Given the description of an element on the screen output the (x, y) to click on. 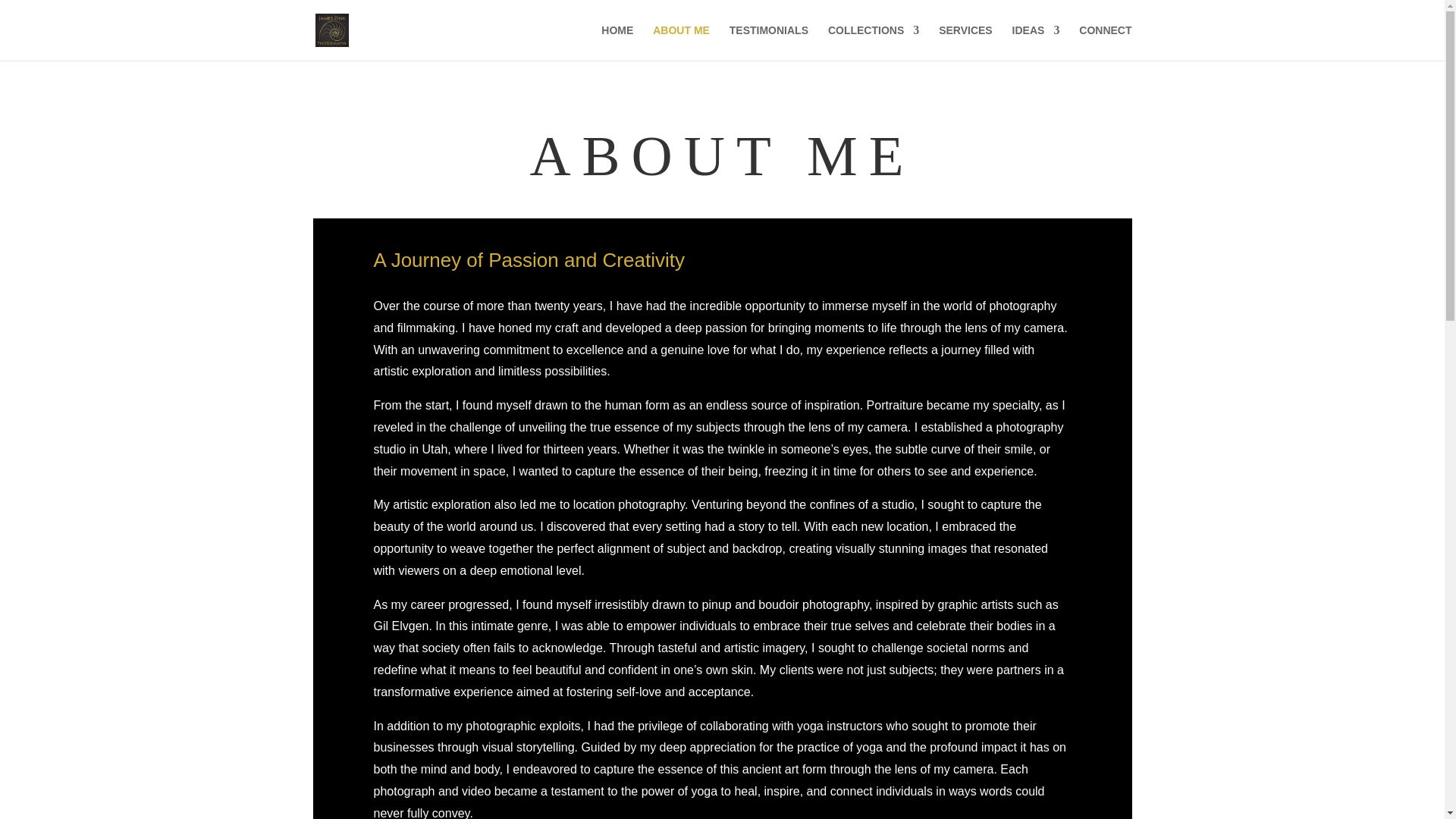
HOME (617, 42)
COLLECTIONS (873, 42)
CONNECT (1104, 42)
ABOUT ME (681, 42)
TESTIMONIALS (768, 42)
SERVICES (965, 42)
IDEAS (1035, 42)
